Given the description of an element on the screen output the (x, y) to click on. 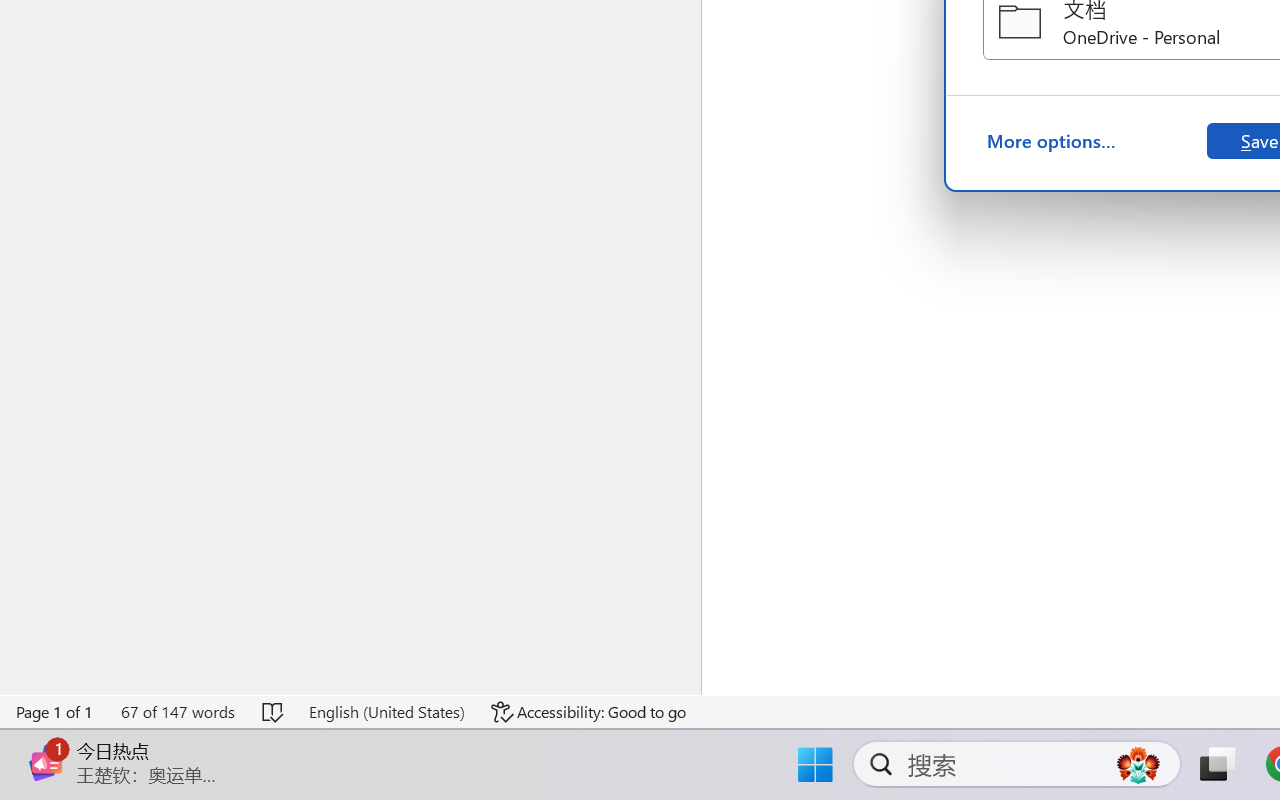
Page Number Page 1 of 1 (55, 712)
